Given the description of an element on the screen output the (x, y) to click on. 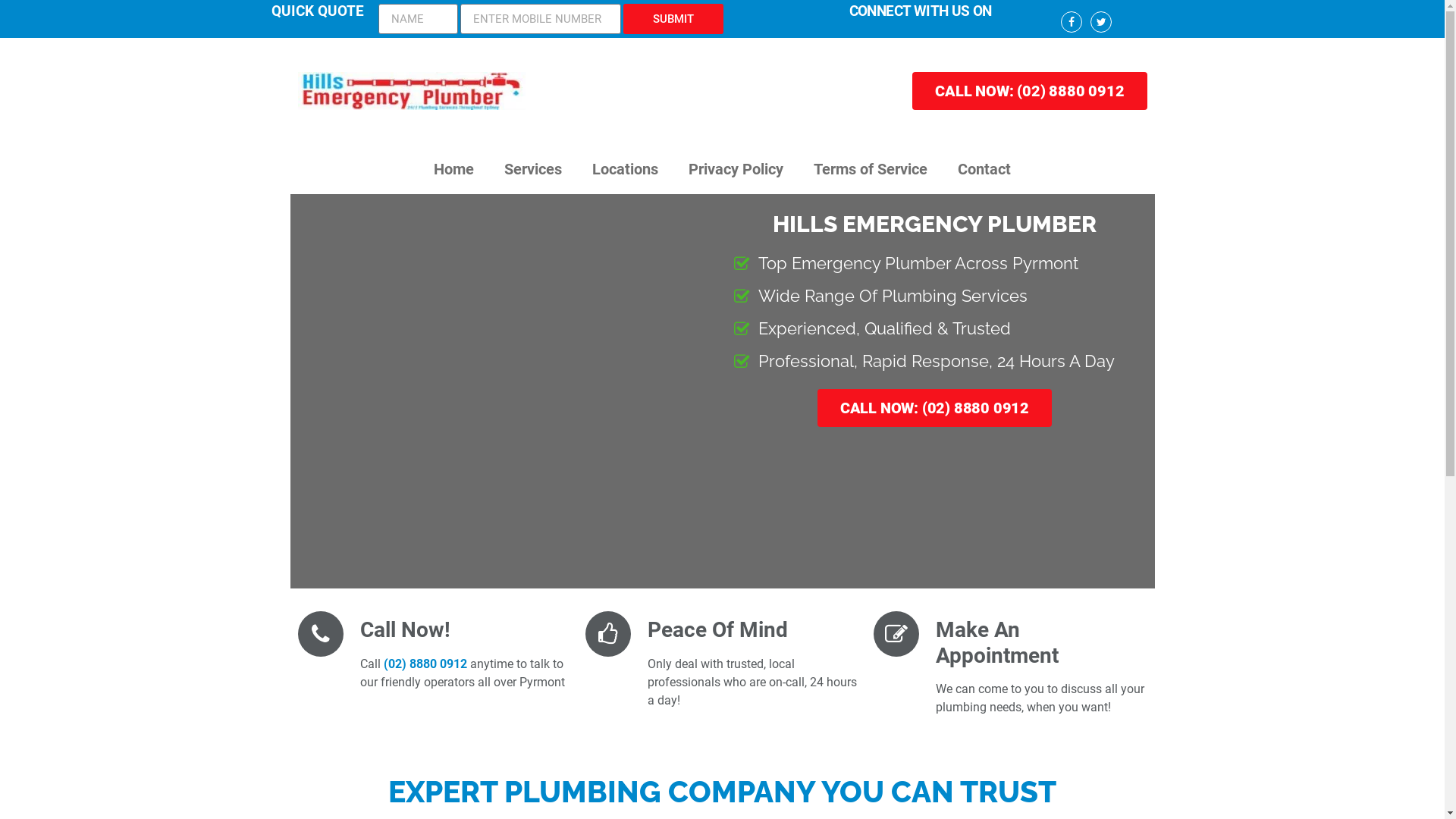
Terms of Service Element type: text (870, 168)
CALL NOW: (02) 8880 0912 Element type: text (1029, 90)
Locations Element type: text (625, 168)
CALL NOW: (02) 8880 0912 Element type: text (934, 407)
Home Element type: text (453, 168)
SUBMIT Element type: text (673, 18)
Privacy Policy Element type: text (735, 168)
(02) 8880 0912 Element type: text (425, 663)
Contact Element type: text (984, 168)
Services Element type: text (533, 168)
